Given the description of an element on the screen output the (x, y) to click on. 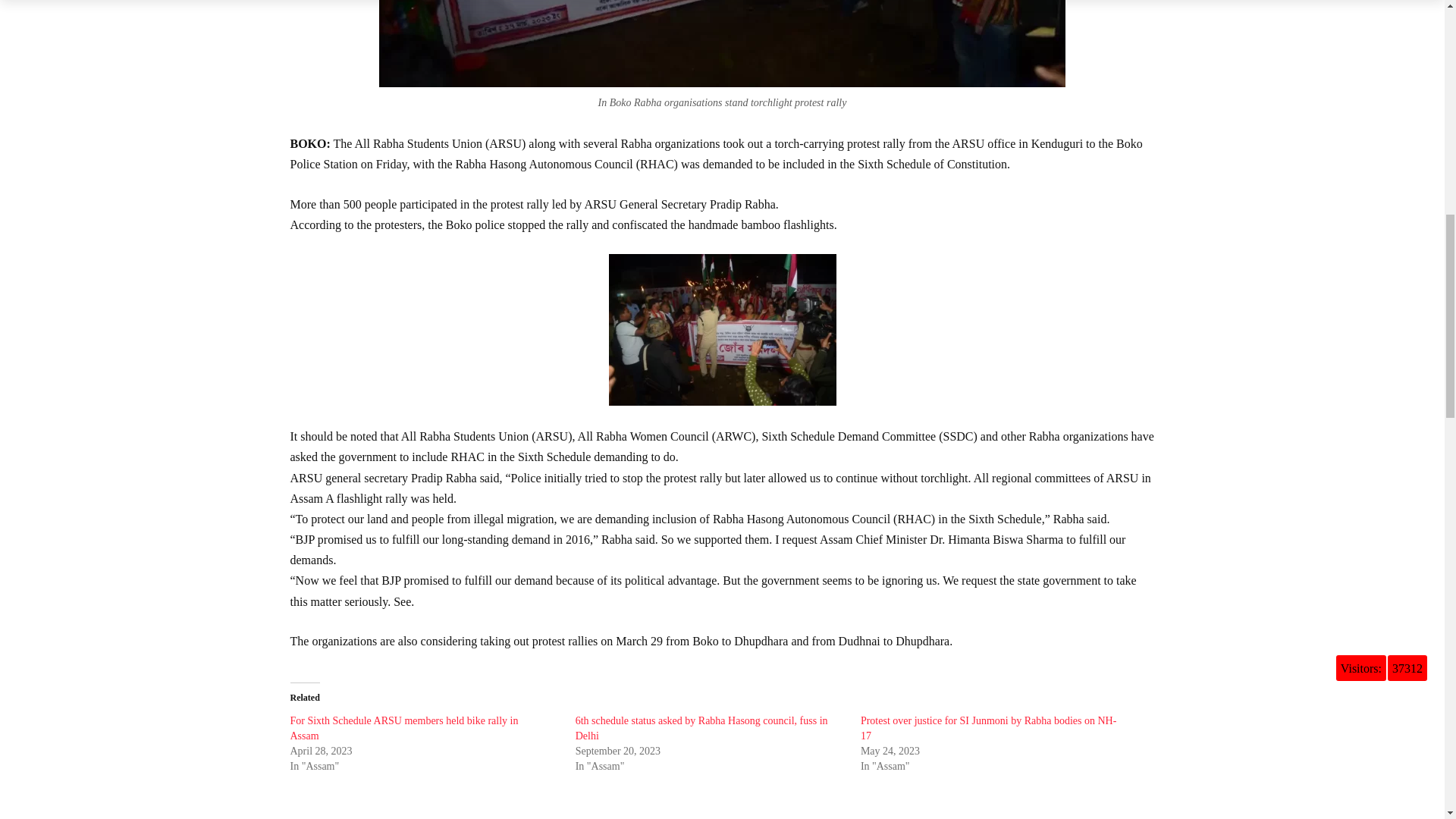
Protest over justice for SI Junmoni by Rabha bodies on NH-17 (988, 728)
For Sixth Schedule ARSU members held bike rally in Assam (403, 728)
